Given the description of an element on the screen output the (x, y) to click on. 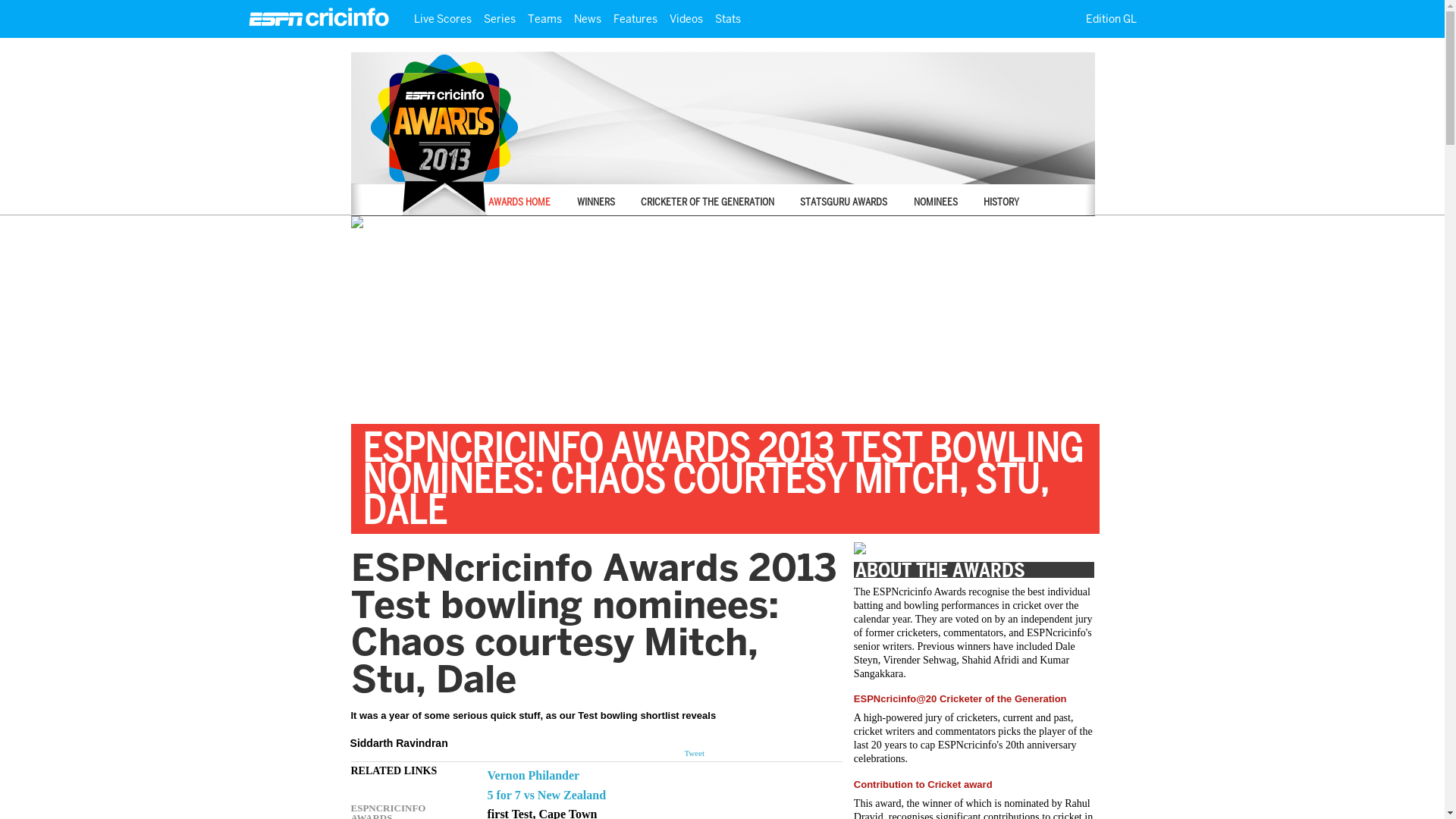
Live Scores (442, 18)
Teams (544, 18)
Series (499, 18)
